Given the description of an element on the screen output the (x, y) to click on. 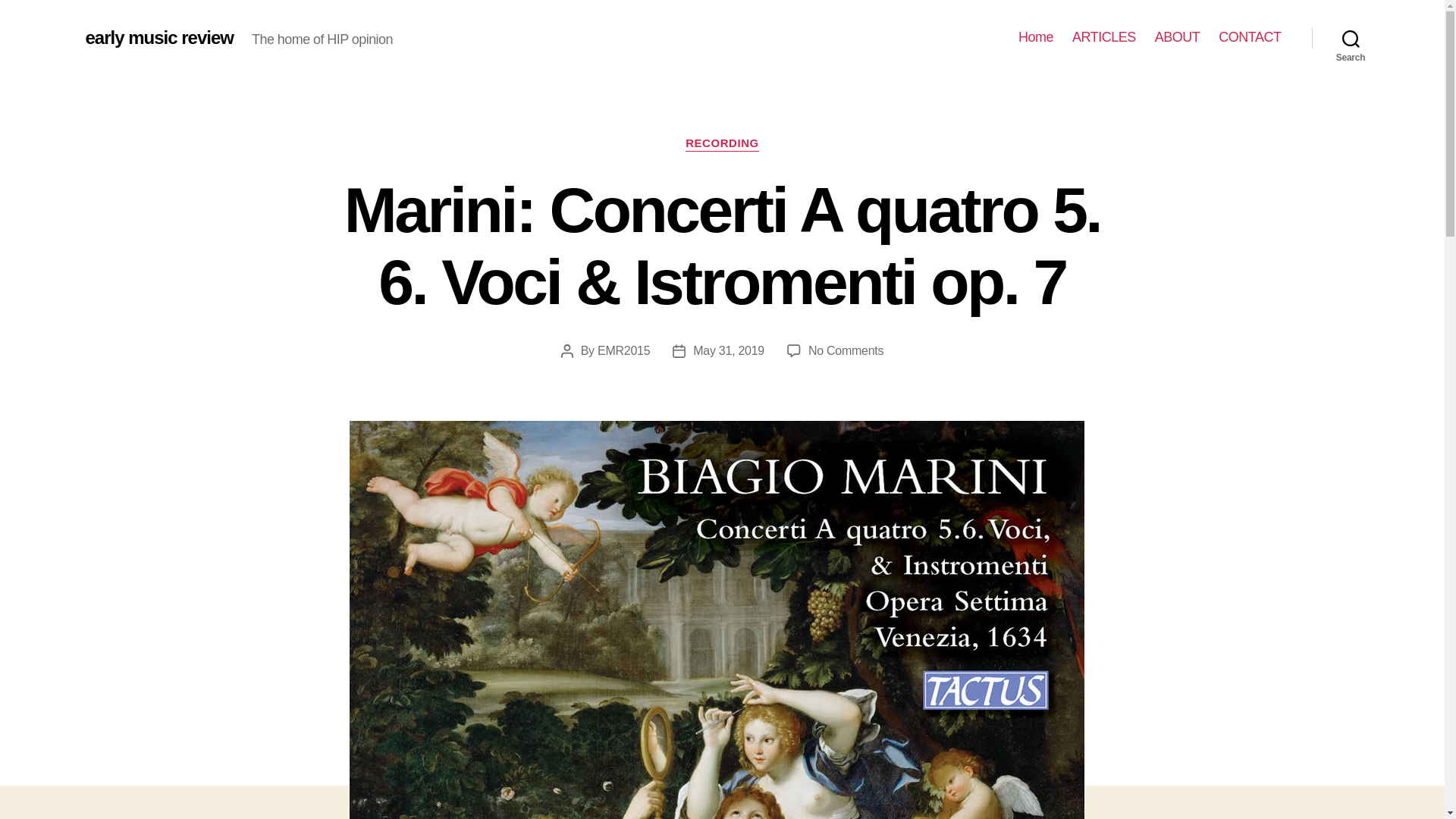
Home (1034, 37)
RECORDING (721, 143)
ABOUT (1176, 37)
May 31, 2019 (728, 350)
early music review (158, 37)
Search (1350, 37)
CONTACT (1249, 37)
EMR2015 (622, 350)
ARTICLES (1103, 37)
